Given the description of an element on the screen output the (x, y) to click on. 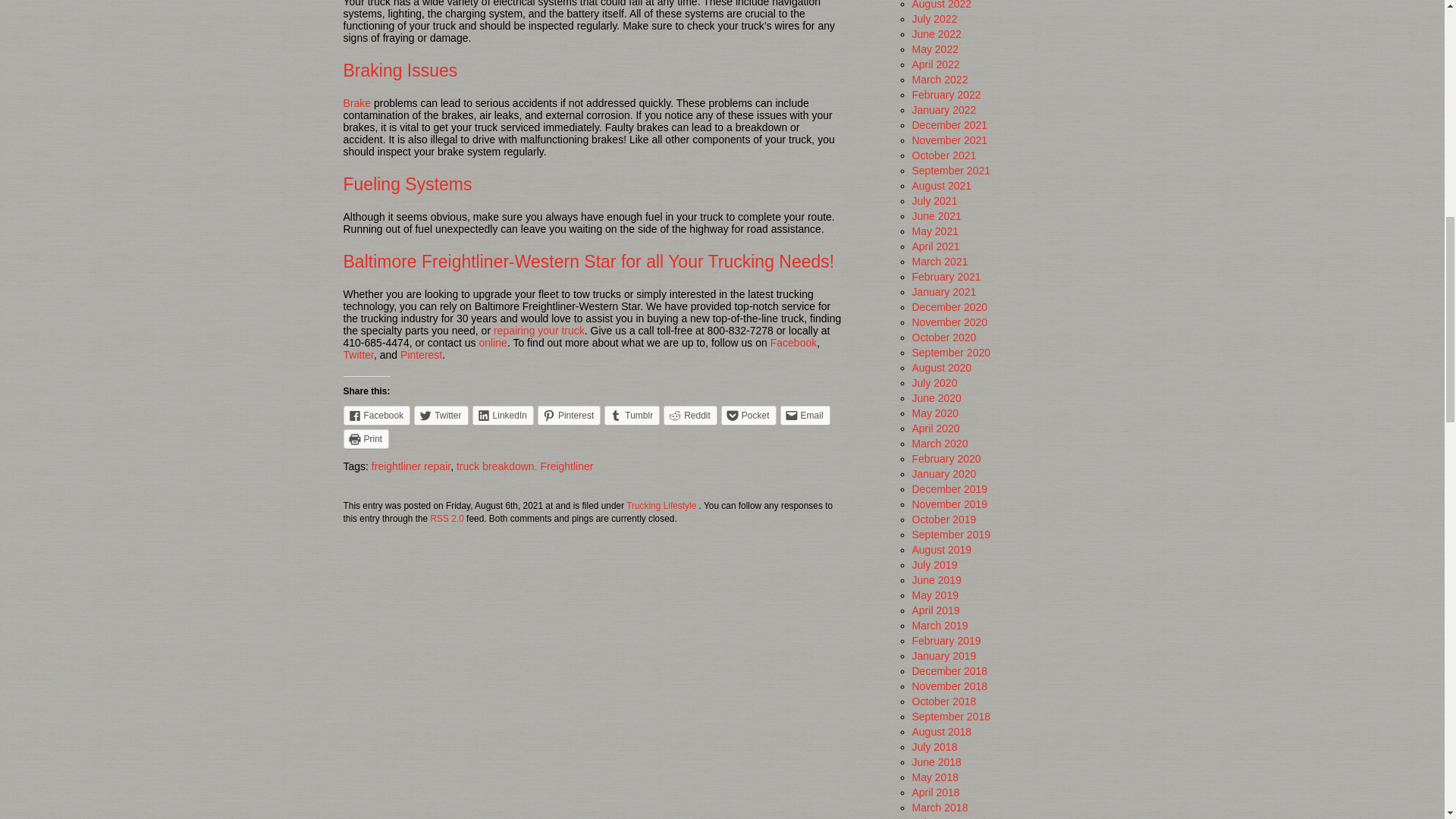
online (491, 342)
Click to print (365, 438)
Click to share on Facebook (376, 415)
Click to share on Tumblr (631, 415)
Tumblr (631, 415)
Pinterest (568, 415)
Click to share on Reddit (690, 415)
Facebook (793, 342)
LinkedIn (502, 415)
Reddit (690, 415)
Pinterest (421, 354)
Click to share on Twitter (440, 415)
Brake (356, 102)
repairing your truck (537, 330)
Click to email this to a friend (804, 415)
